Given the description of an element on the screen output the (x, y) to click on. 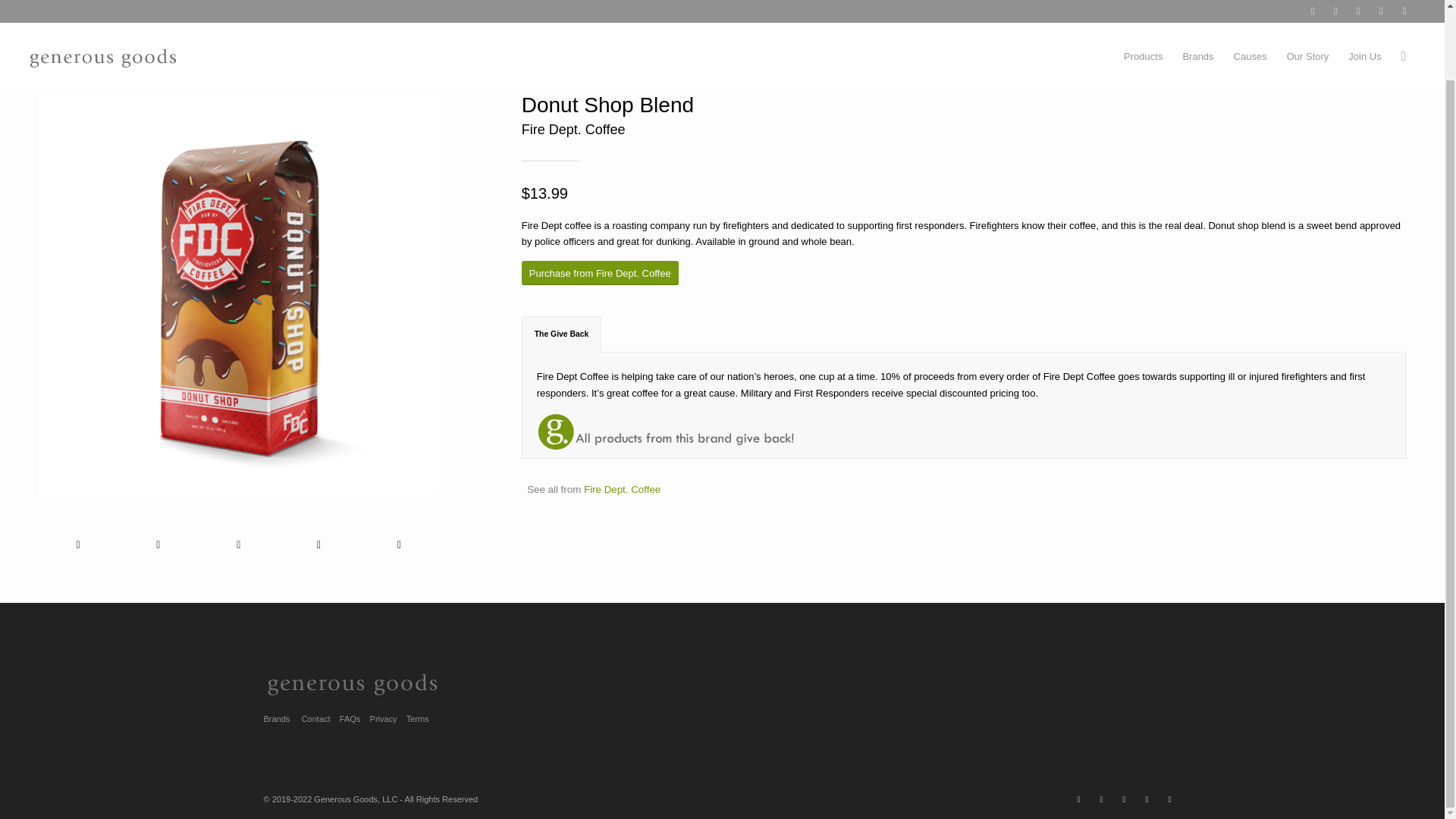
Generous Goods (940, 34)
Facebook (1078, 798)
Products (1142, 6)
